Given the description of an element on the screen output the (x, y) to click on. 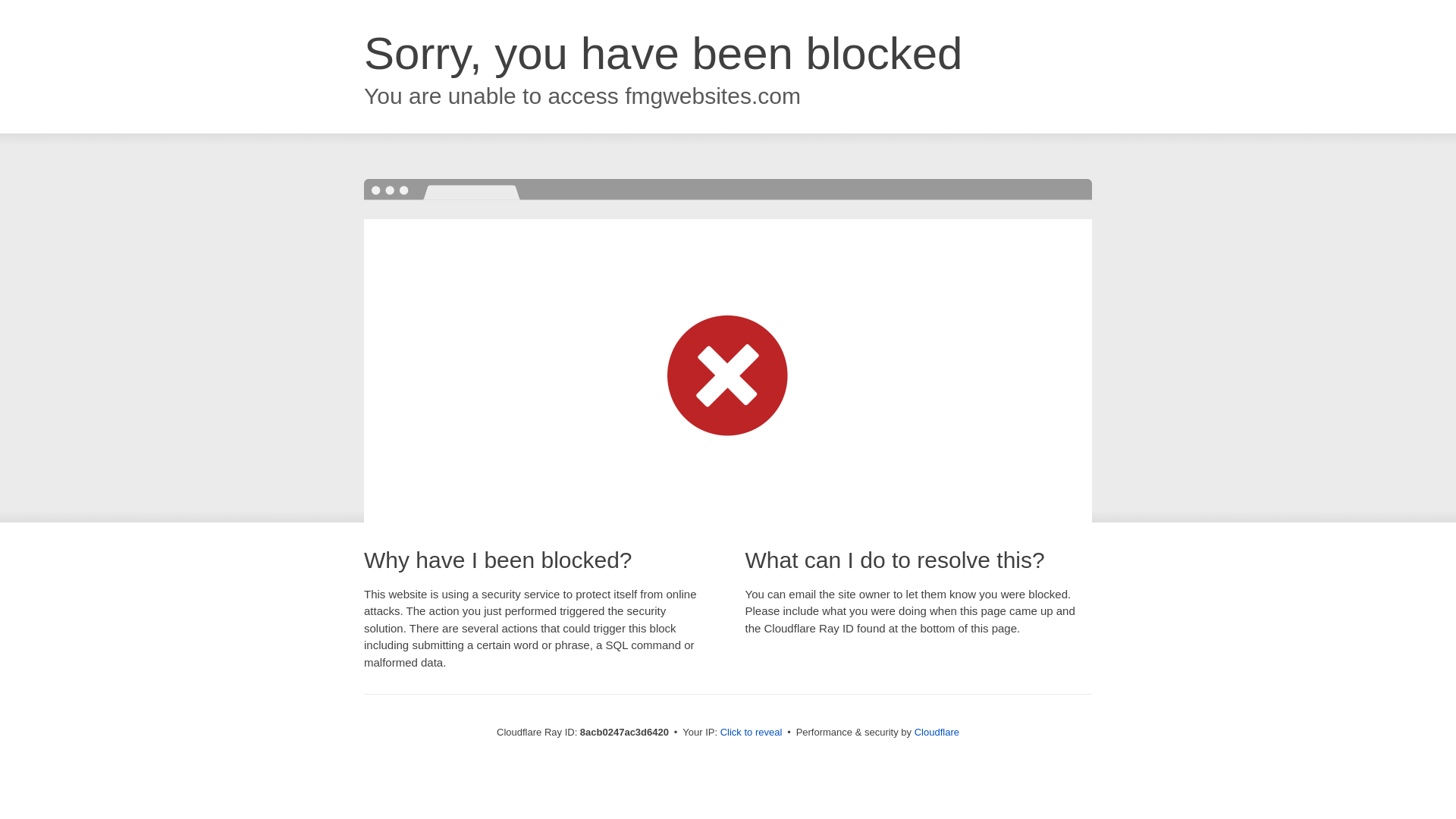
Cloudflare (936, 731)
Click to reveal (751, 732)
